Given the description of an element on the screen output the (x, y) to click on. 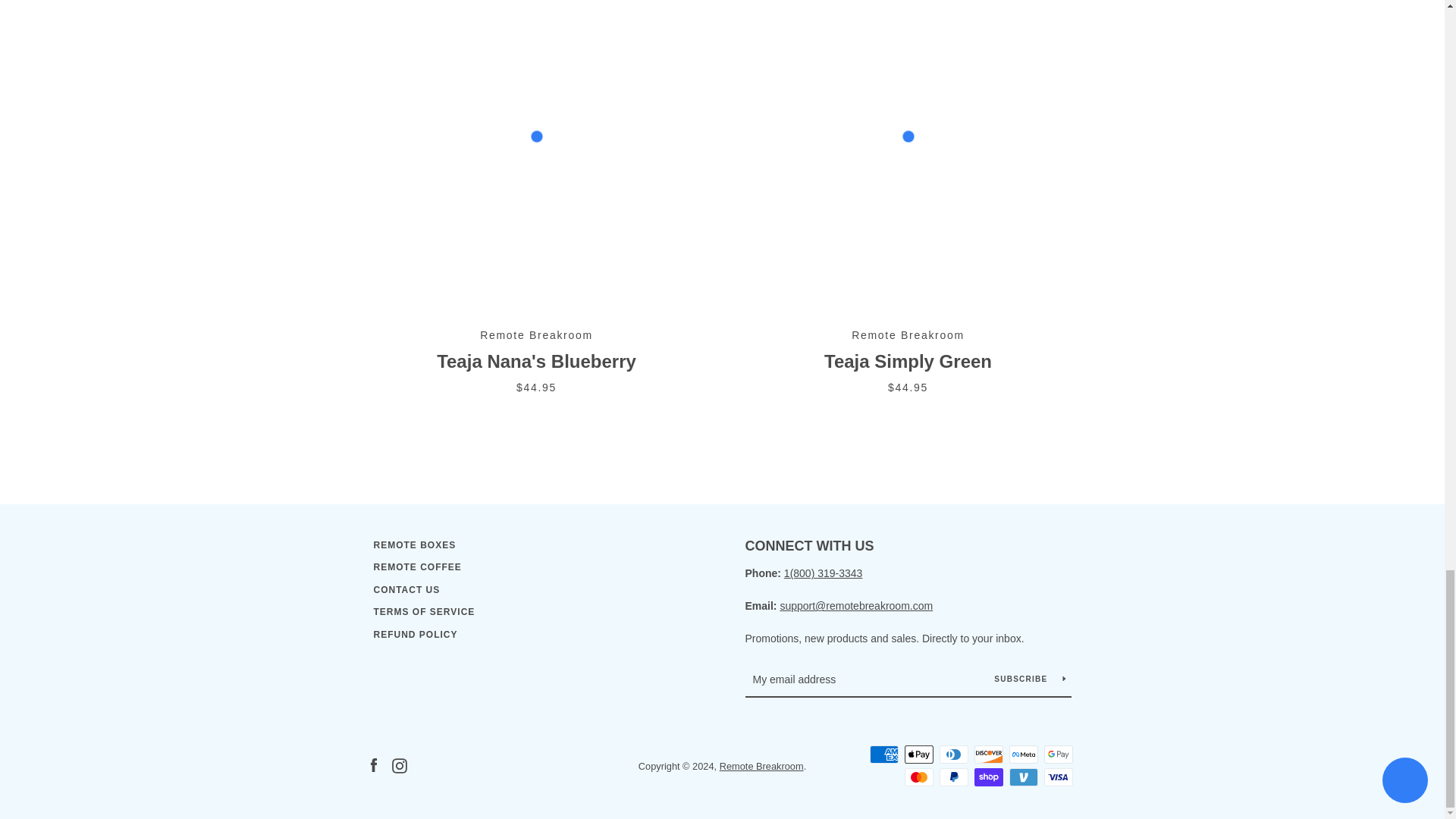
CONTACT US (405, 589)
TERMS OF SERVICE (423, 611)
Meta Pay (1022, 754)
Remote Breakroom on Instagram (399, 765)
REMOTE COFFEE (416, 566)
REFUND POLICY (414, 633)
Contact Us (855, 605)
REMOTE BOXES (413, 543)
Remote Breakroom on Facebook (372, 765)
Apple Pay (918, 754)
